Given the description of an element on the screen output the (x, y) to click on. 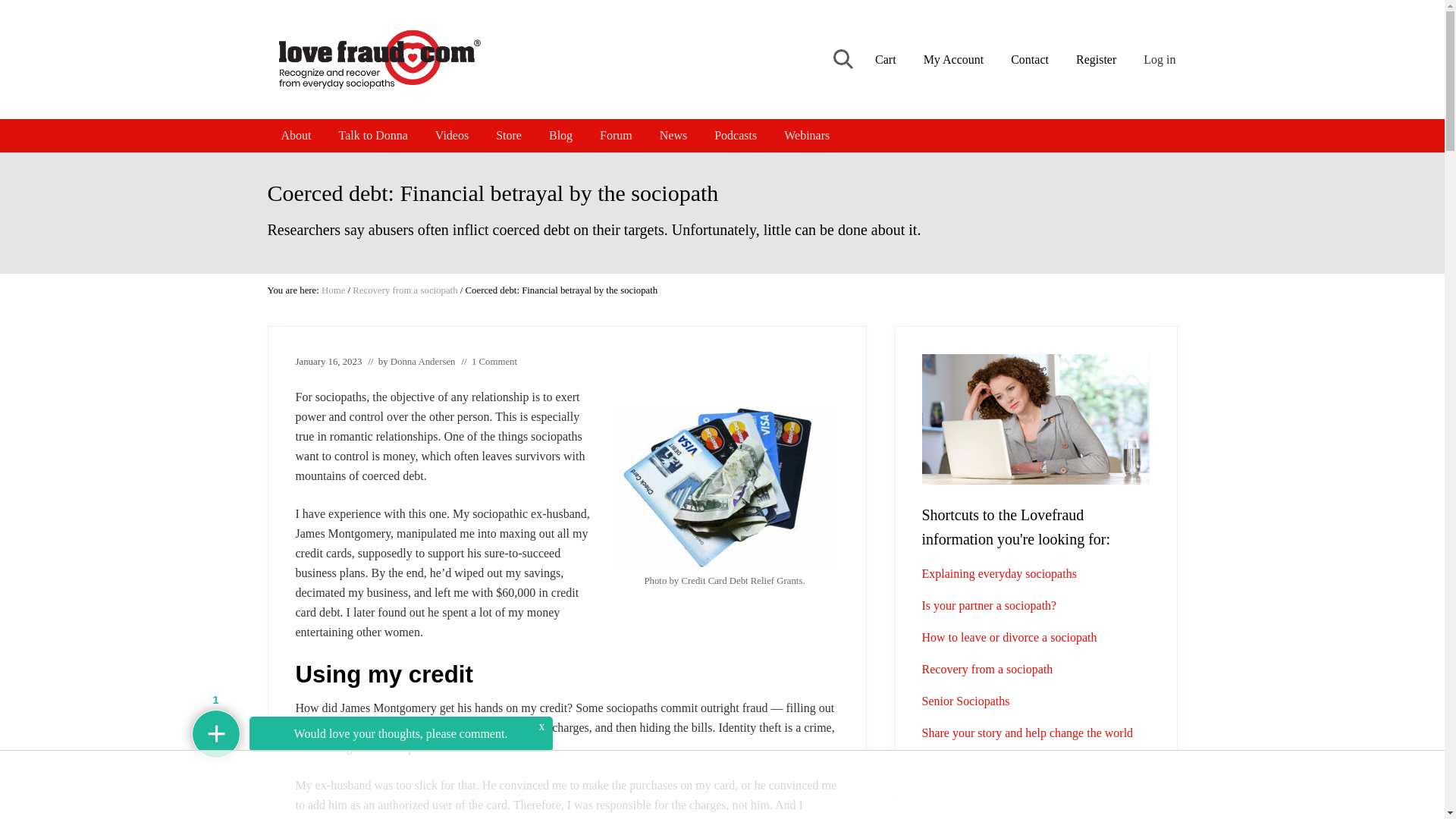
Log in (1161, 59)
About (295, 135)
Talk to Donna (372, 135)
News (673, 135)
Videos (451, 135)
My Account (953, 59)
Register (1096, 59)
Cart (885, 59)
Forum (616, 135)
Blog (560, 135)
Store (508, 135)
Search (841, 59)
1 Comment (493, 361)
Contact (1029, 59)
